Given the description of an element on the screen output the (x, y) to click on. 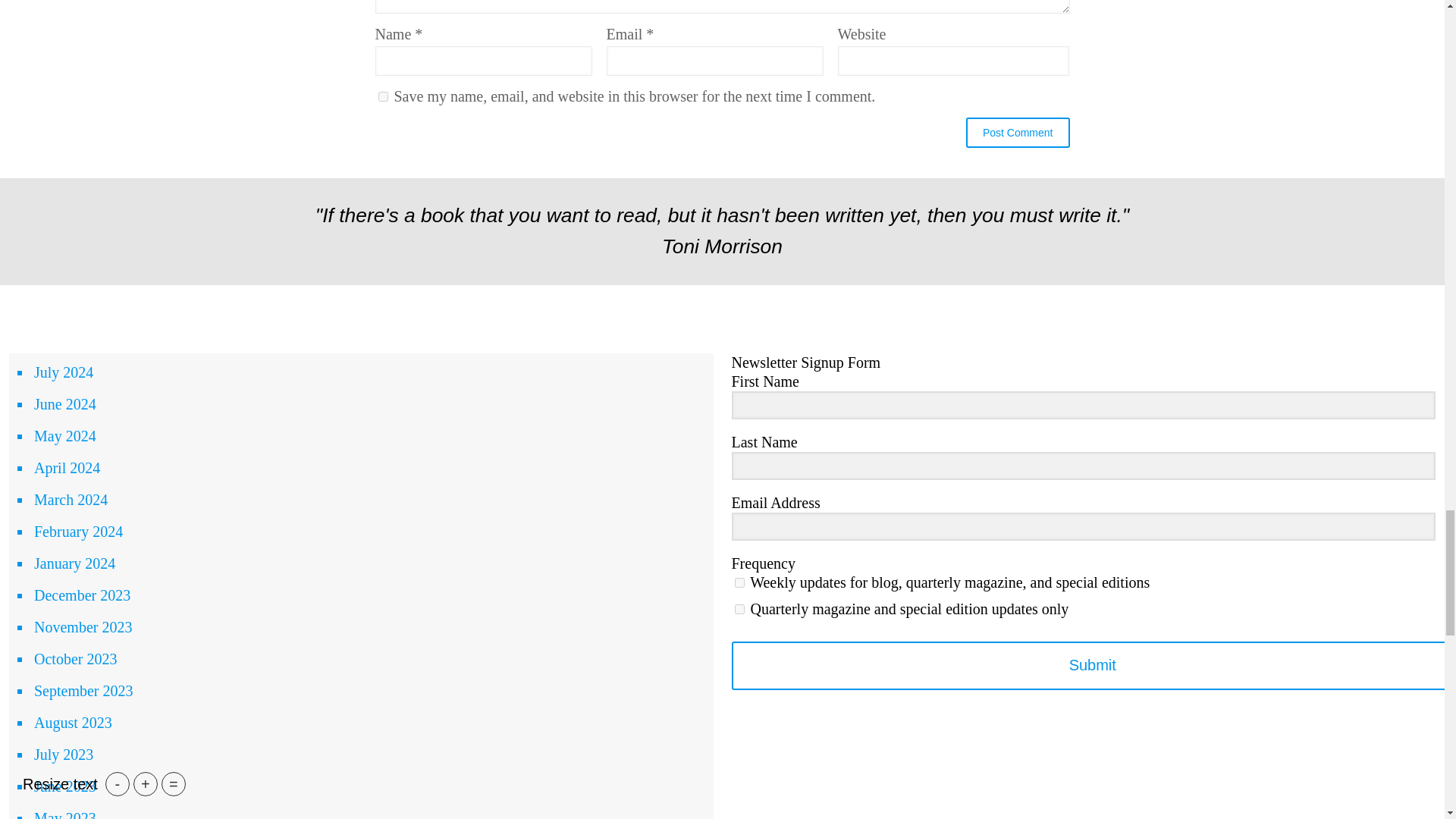
fb85e3644c (738, 609)
yes (382, 96)
Post Comment (1018, 132)
80af137680 (738, 583)
